Given the description of an element on the screen output the (x, y) to click on. 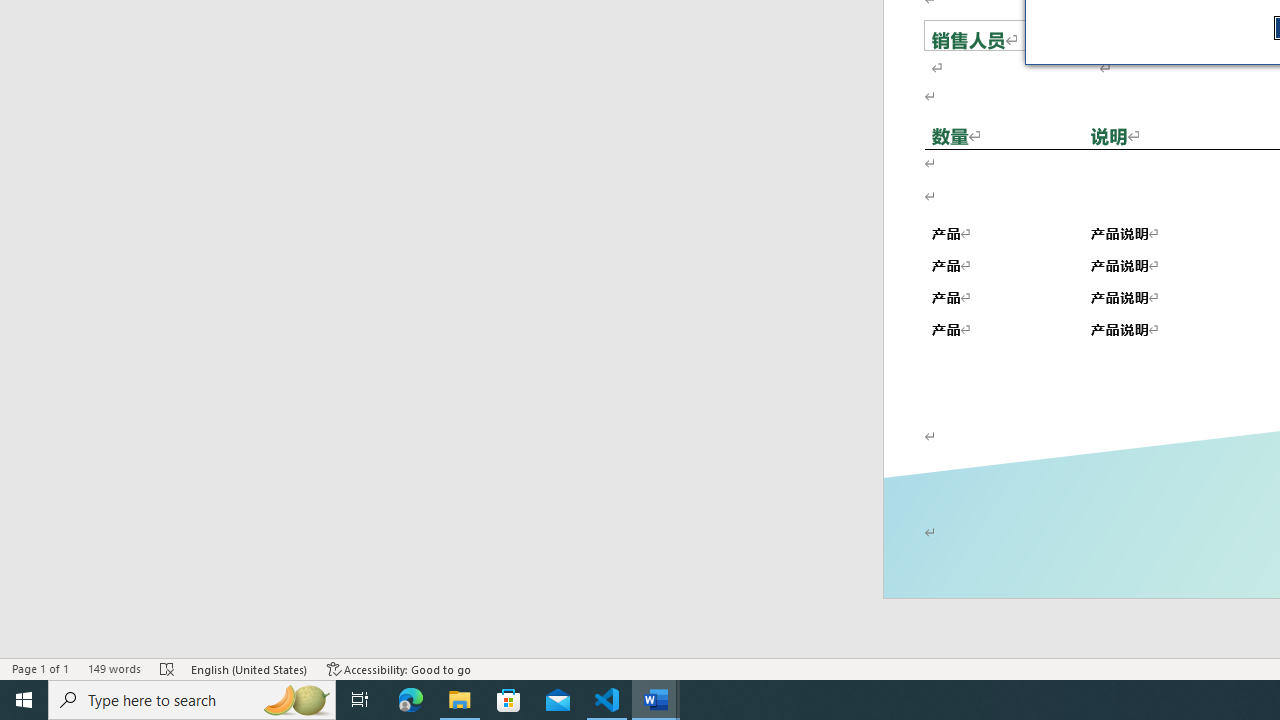
Page Number Page 1 of 1 (39, 668)
